Given the description of an element on the screen output the (x, y) to click on. 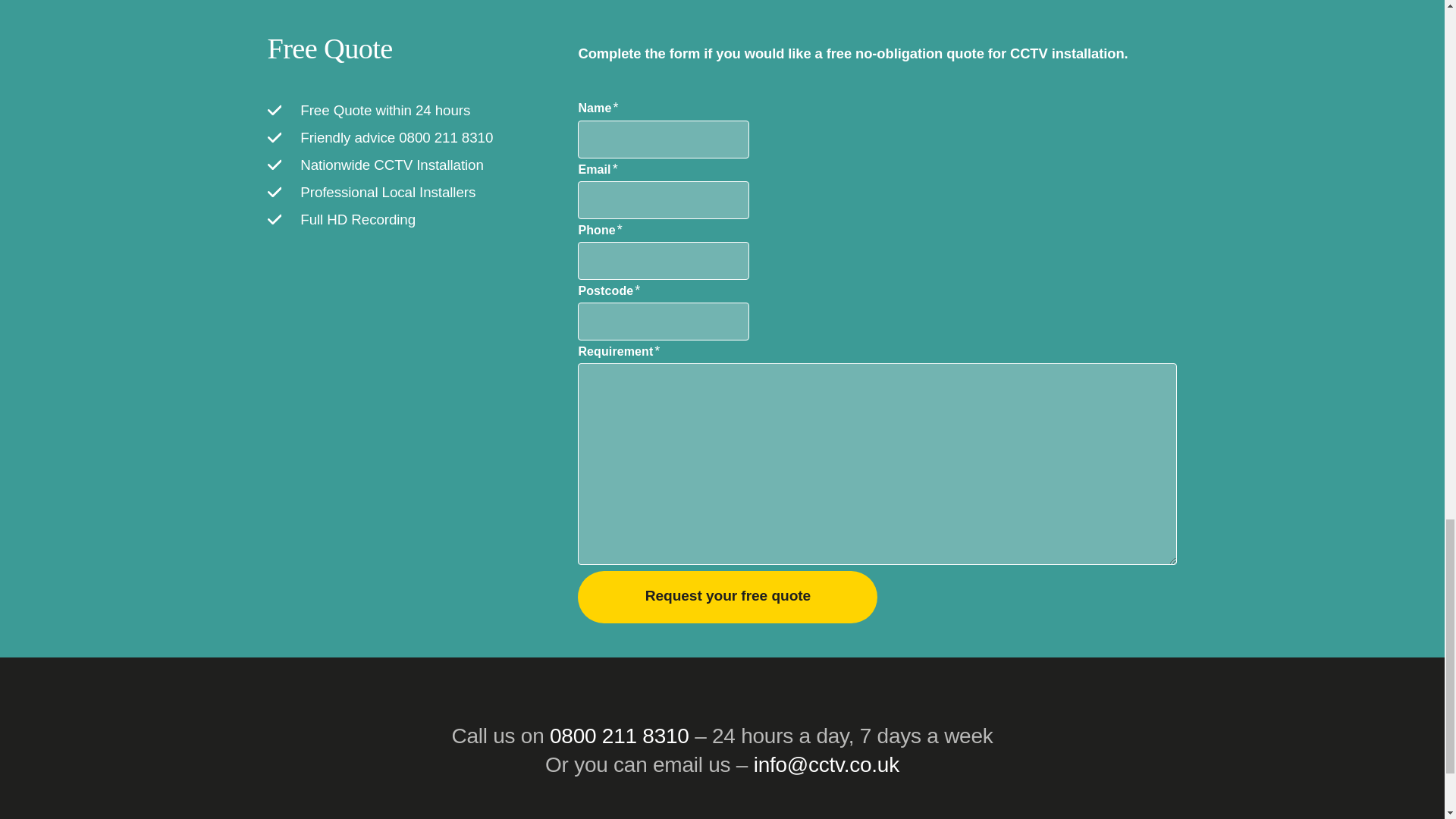
Request your free quote (727, 596)
Jobs (417, 817)
Request your free quote (727, 596)
0800 211 8310 (619, 735)
Home Security (610, 817)
Privacy Policy (858, 817)
Commercial CCTV (735, 817)
News (470, 817)
